Given the description of an element on the screen output the (x, y) to click on. 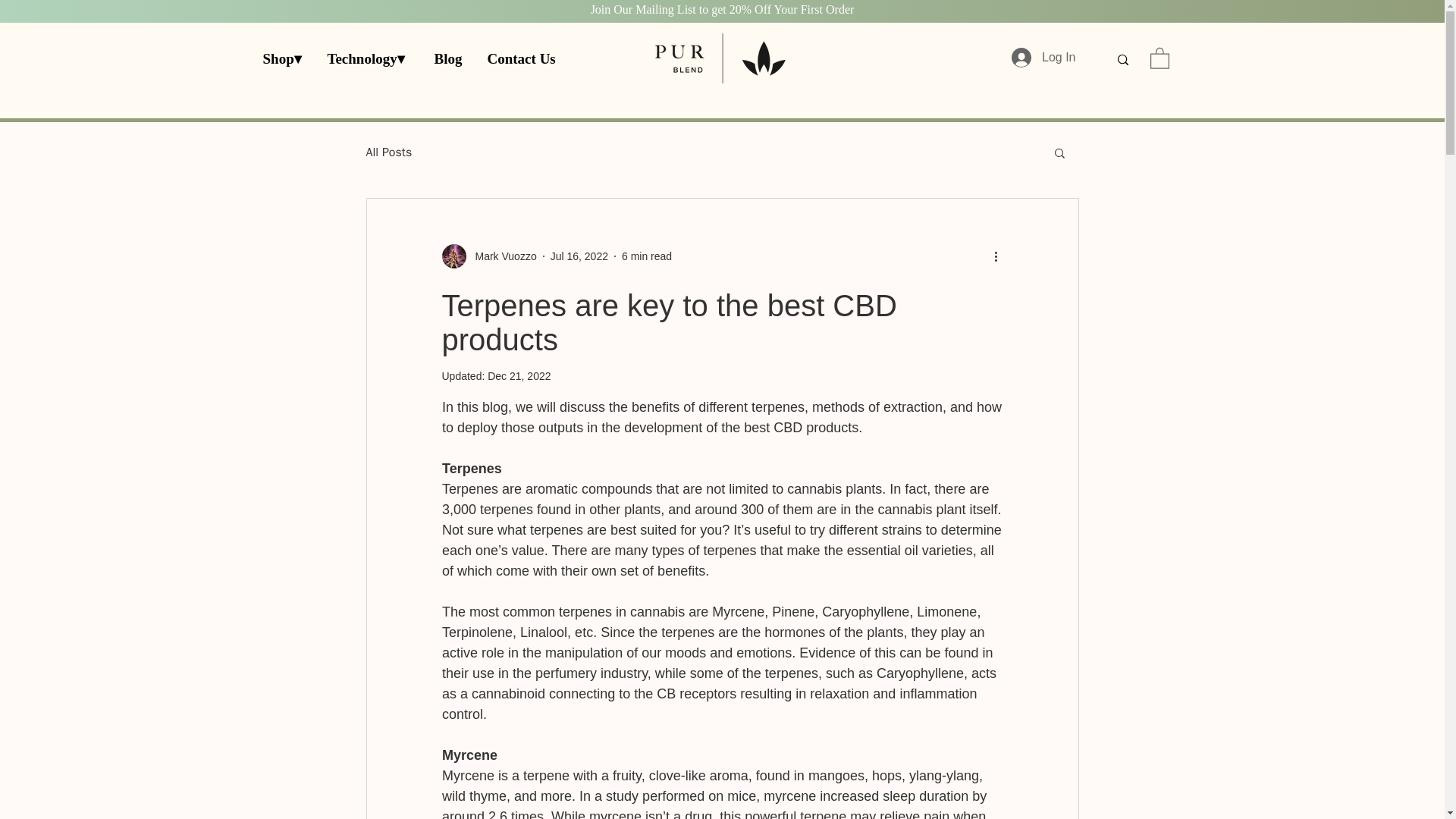
Jul 16, 2022 (579, 256)
Dec 21, 2022 (518, 376)
Blog (449, 58)
All Posts (388, 152)
Mark Vuozzo (488, 256)
Contact Us (524, 58)
6 min read (646, 256)
Log In (1043, 57)
Mark Vuozzo (500, 256)
